Given the description of an element on the screen output the (x, y) to click on. 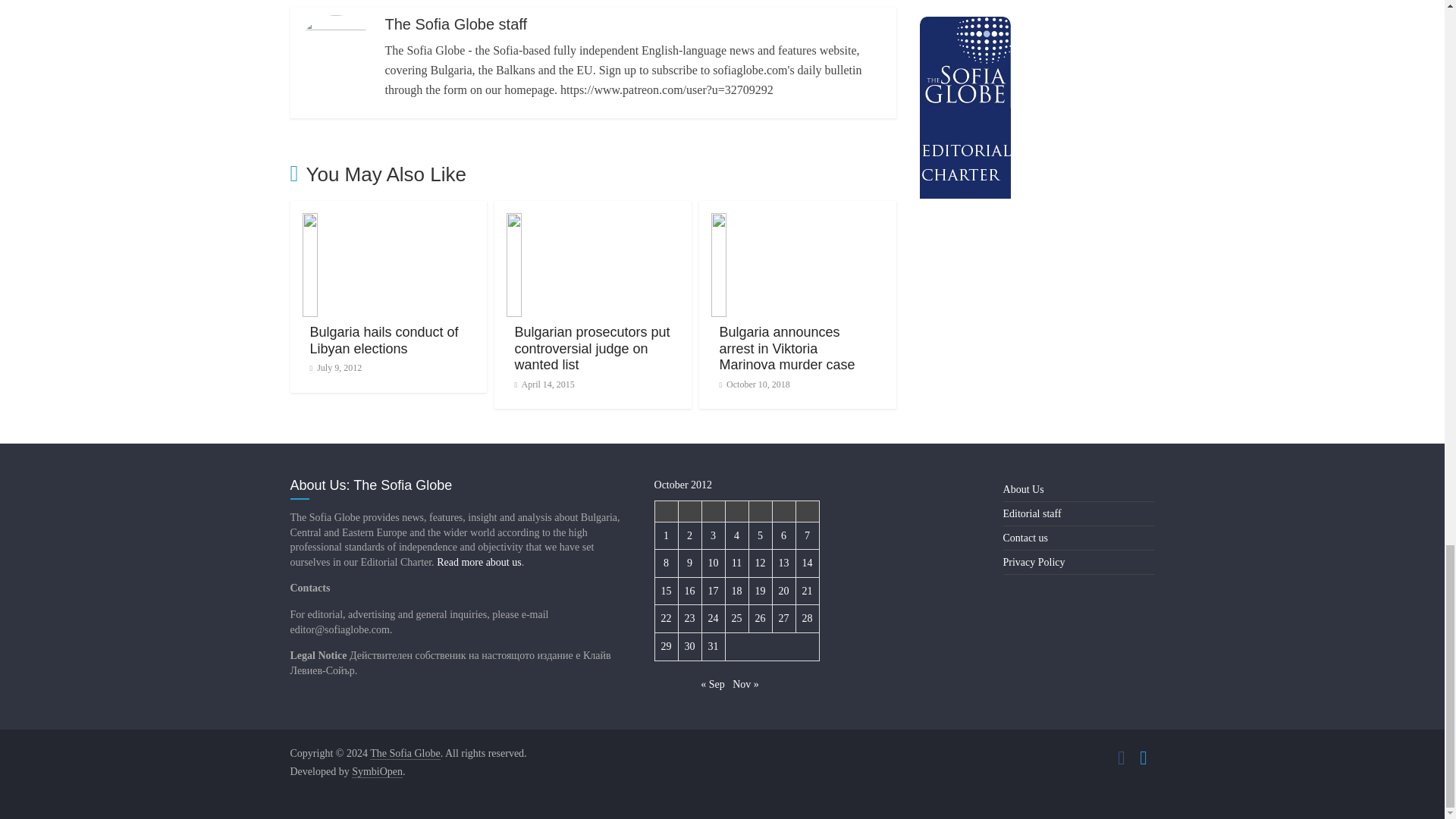
Bulgaria announces arrest in Viktoria Marinova murder case (786, 348)
Bulgaria hails conduct of Libyan elections (383, 340)
Bulgarian prosecutors put controversial judge on wanted list (591, 348)
October 10, 2018 (754, 384)
Bulgarian prosecutors put controversial judge on wanted list (592, 222)
Bulgaria hails conduct of Libyan elections (387, 222)
July 9, 2012 (334, 367)
Bulgarian prosecutors put controversial judge on wanted list (591, 348)
3:27 PM (543, 384)
April 14, 2015 (543, 384)
